Given the description of an element on the screen output the (x, y) to click on. 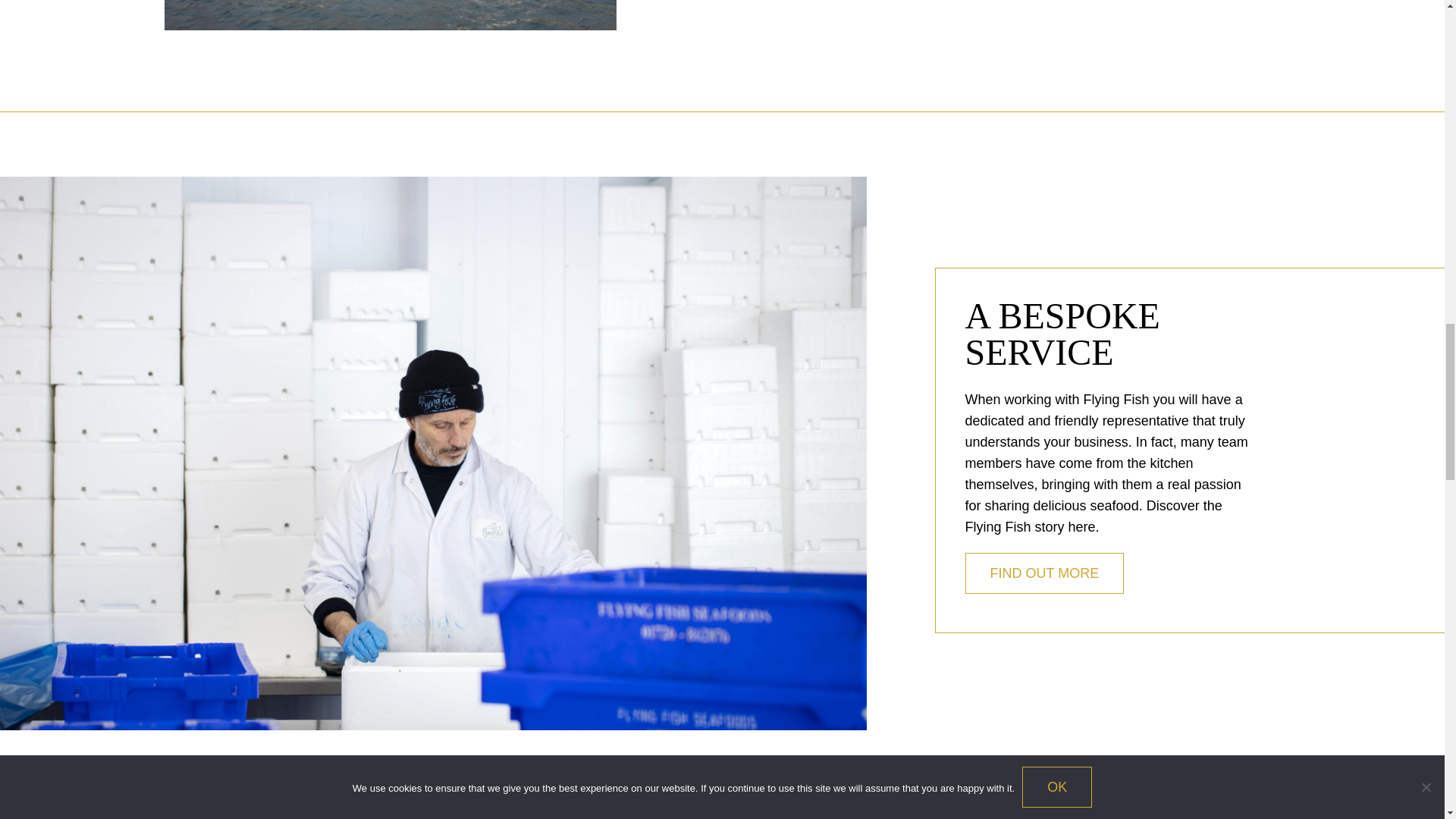
FIND OUT MORE (1043, 572)
